Given the description of an element on the screen output the (x, y) to click on. 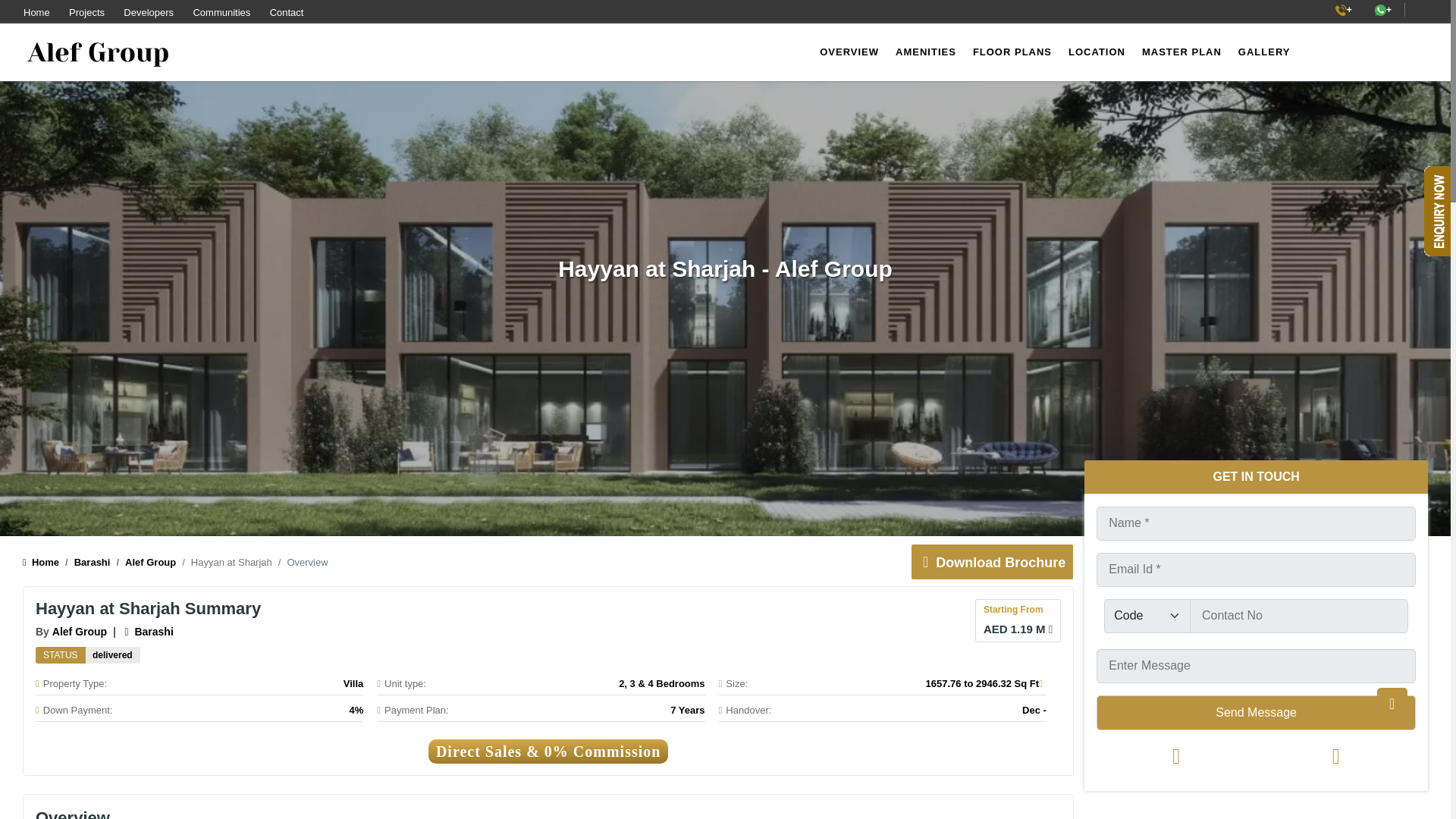
LOCATION (1096, 52)
Barashi (84, 562)
Home (36, 12)
Developers (148, 12)
Communities (221, 12)
  Home (41, 562)
GALLERY (1264, 52)
OVERVIEW (849, 52)
FLOOR PLANS (1012, 52)
Alef Group (143, 562)
